Given the description of an element on the screen output the (x, y) to click on. 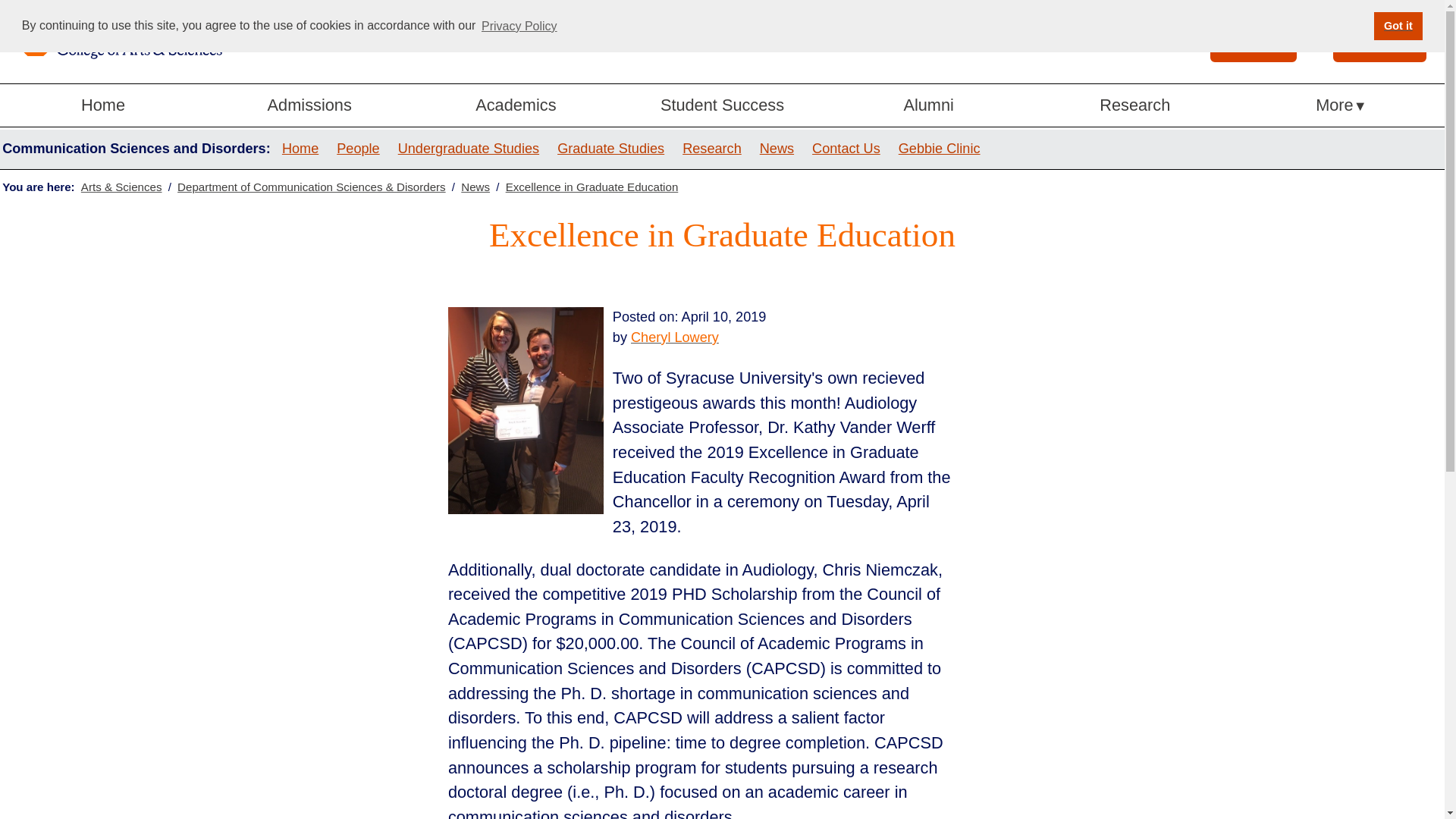
Privacy Policy (519, 25)
Give Online (1379, 41)
Academics (515, 105)
Search (1230, 38)
Admissions (309, 105)
Research (1135, 105)
Home (103, 105)
Got it (1398, 26)
Search Search (1253, 41)
Student Success (721, 105)
